Given the description of an element on the screen output the (x, y) to click on. 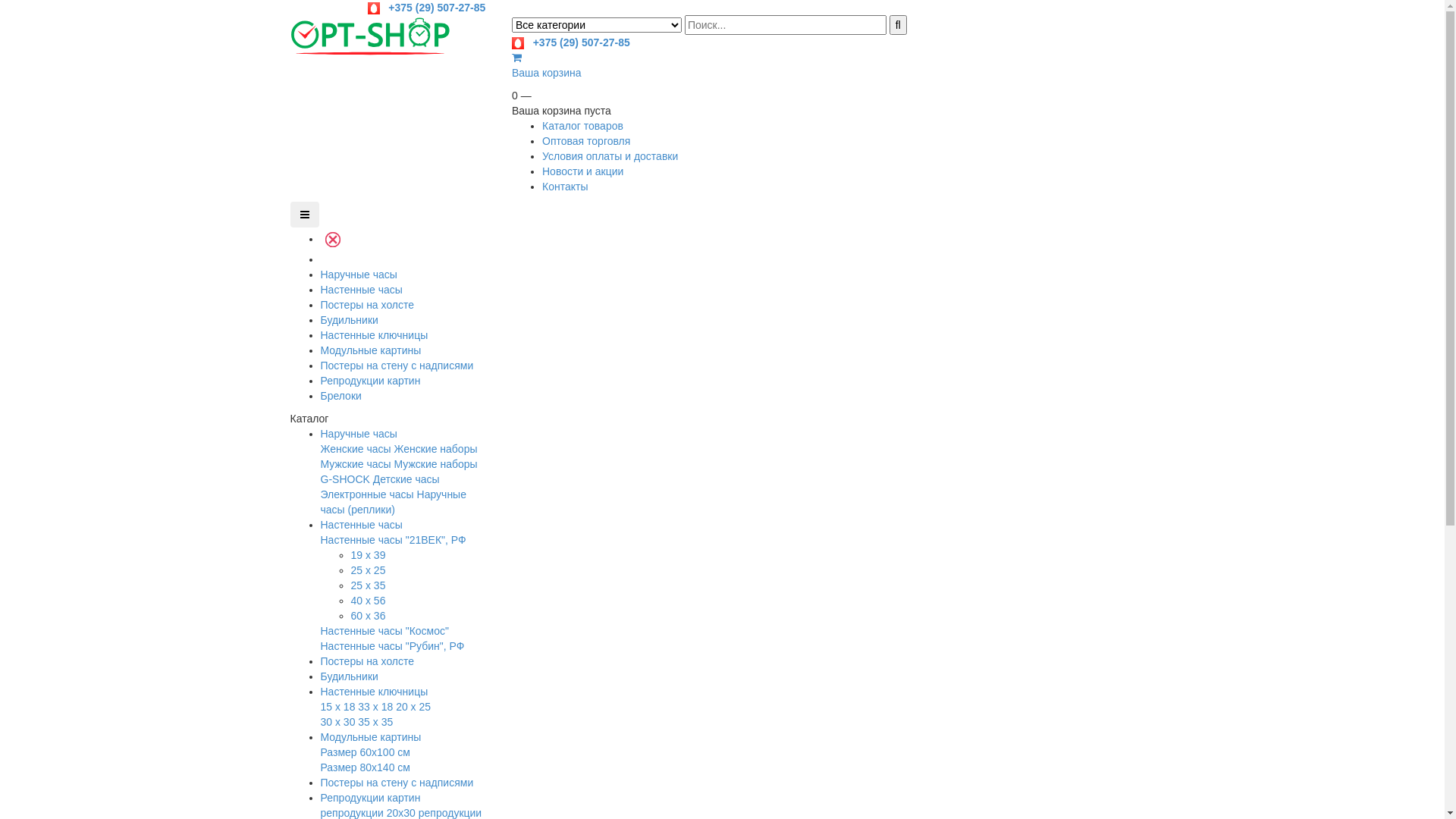
33 x 18 Element type: text (374, 706)
19 x 39 Element type: text (367, 555)
35 x 35 Element type: text (374, 721)
  +375 (29) 507-27-85 Element type: text (426, 7)
40 x 56 Element type: text (367, 600)
25 x 25 Element type: text (367, 570)
60 x 36 Element type: text (367, 615)
G-SHOCK Element type: text (344, 479)
15 x 18 Element type: text (337, 706)
  +375 (29) 507-27-85 Element type: text (570, 42)
25 x 35 Element type: text (367, 585)
  Element type: text (321, 259)
20 x 25 Element type: text (412, 706)
30 x 30 Element type: text (337, 721)
